Given the description of an element on the screen output the (x, y) to click on. 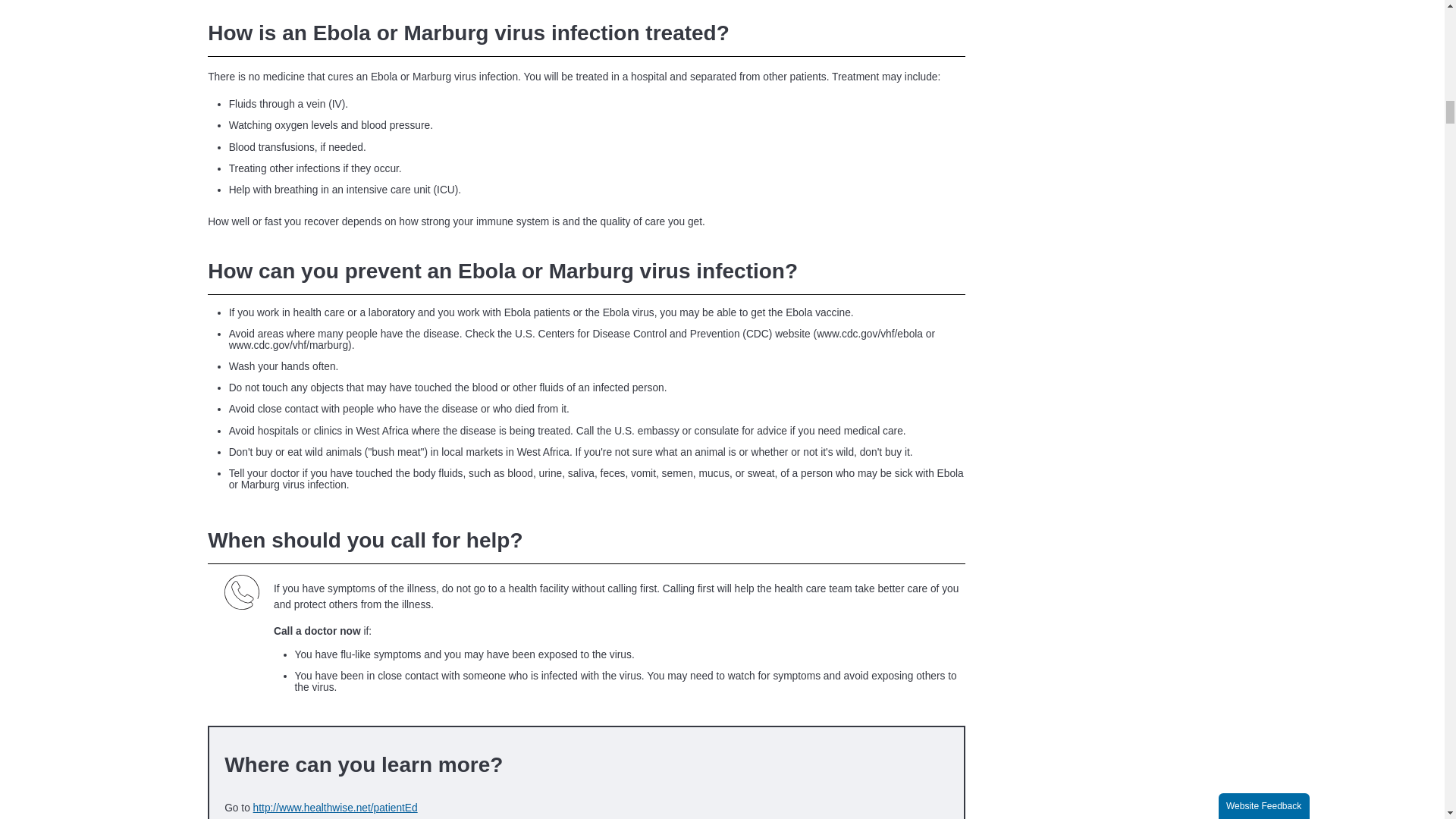
Opens in a new window, external (585, 810)
